Given the description of an element on the screen output the (x, y) to click on. 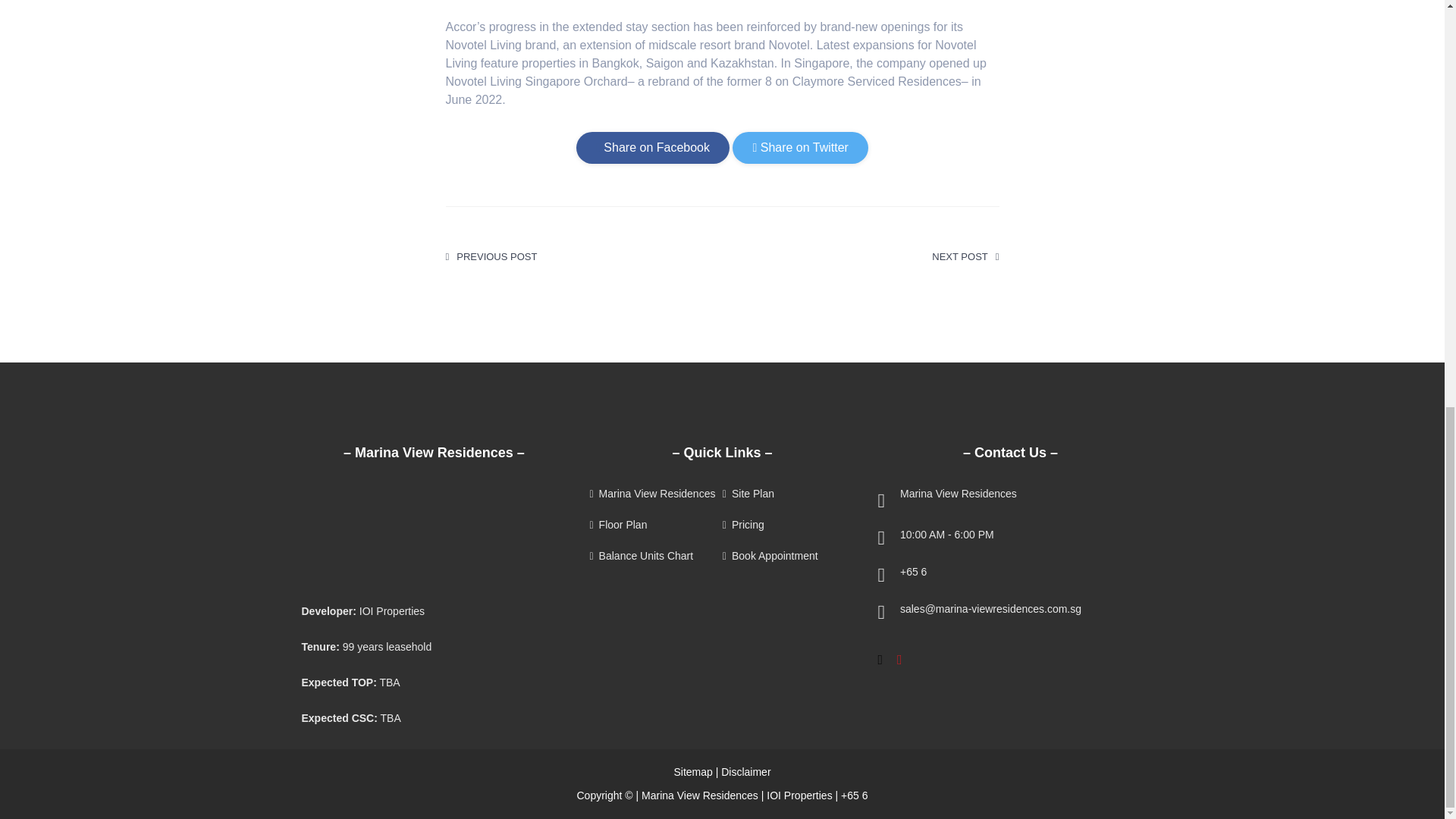
Floor Plan (654, 524)
Site Plan (786, 493)
PREVIOUS POST (491, 256)
Marina View Residences (654, 493)
Share on Facebook (652, 147)
Share on Twitter (799, 147)
Pricing (786, 524)
NEXT POST (964, 256)
